Given the description of an element on the screen output the (x, y) to click on. 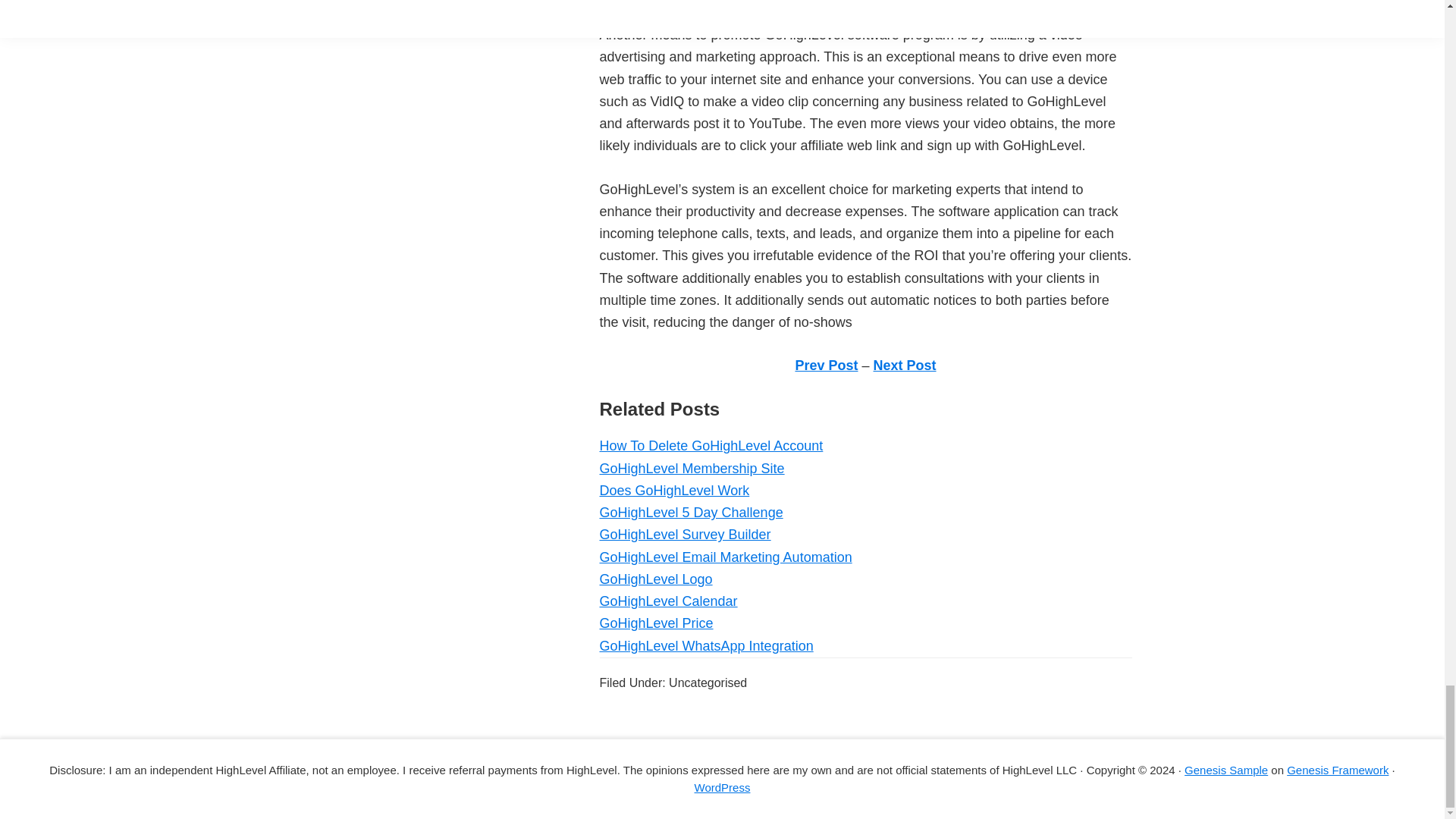
GoHighLevel WhatsApp Integration (705, 645)
Does GoHighLevel Work (673, 490)
GoHighLevel Price (655, 622)
GoHighLevel Email Marketing Automation (895, 754)
GoHighLevel 5 Day Challenge (724, 557)
GoHighLevel Survey Builder (690, 512)
GoHighLevel Logo (684, 534)
Next Post (654, 579)
GoHighLevel Calendar (904, 365)
